Given the description of an element on the screen output the (x, y) to click on. 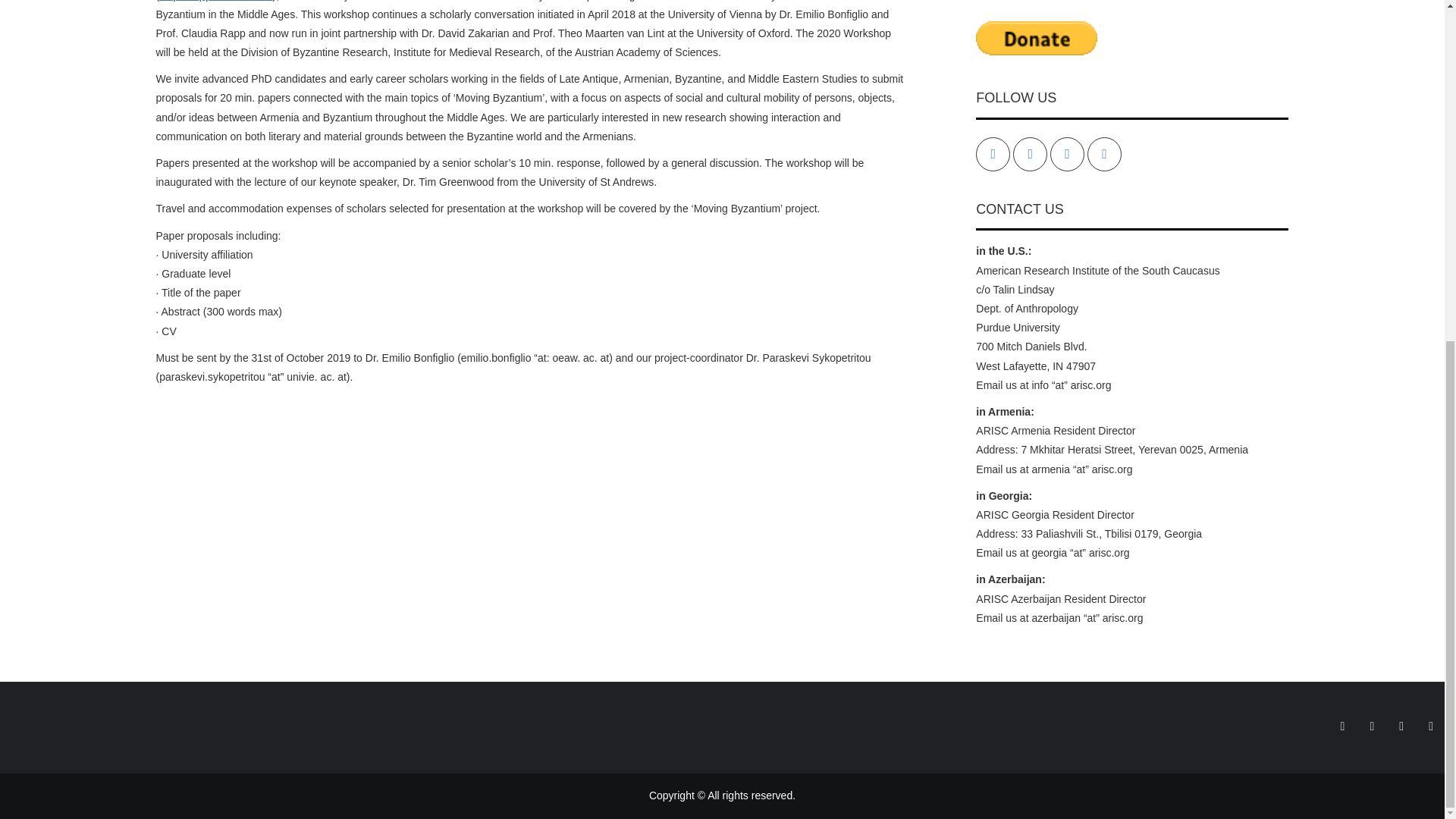
PayPal - The safer, easier way to pay online! (1035, 38)
